Given the description of an element on the screen output the (x, y) to click on. 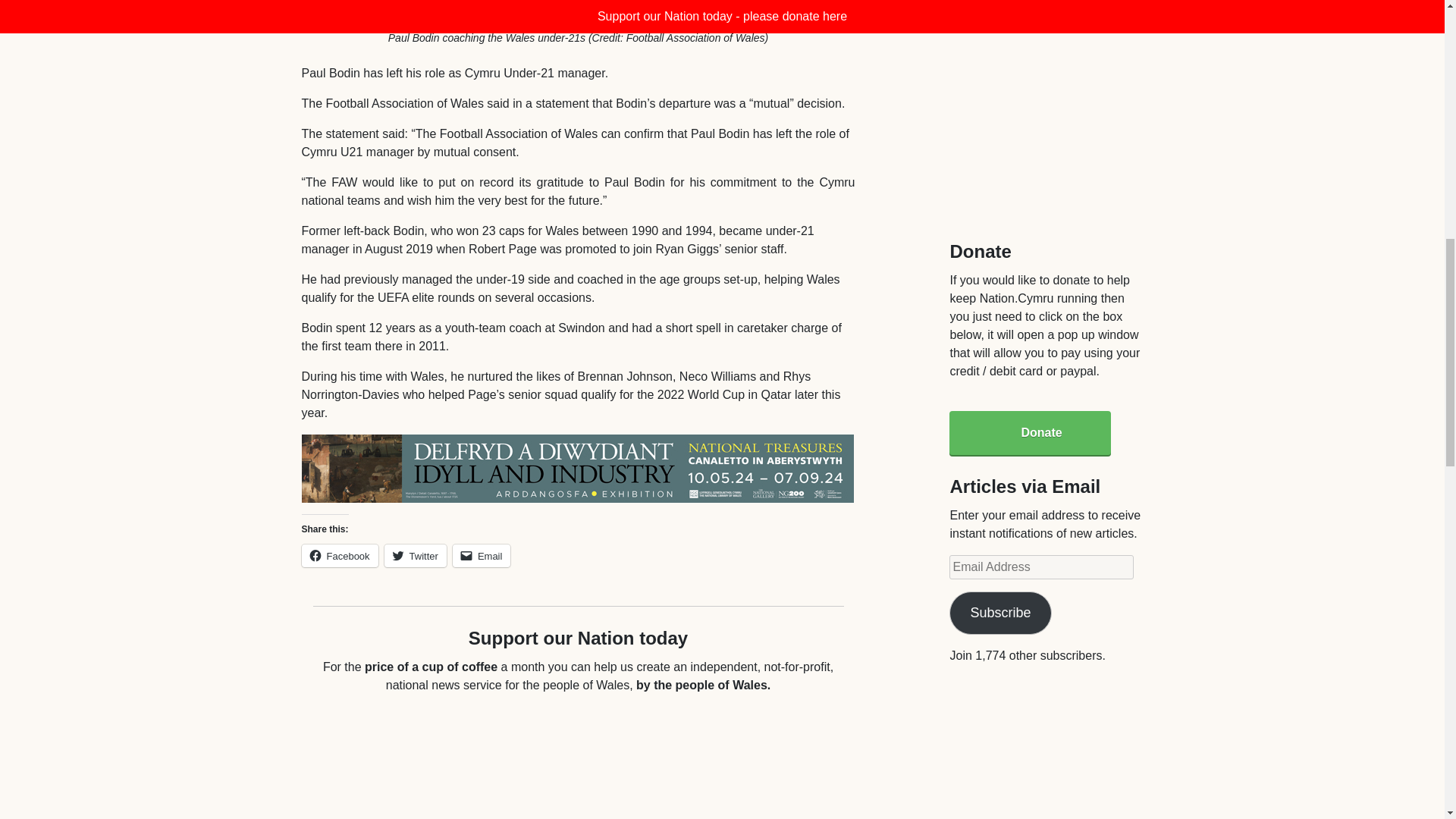
Email (481, 555)
Click to email a link to a friend (481, 555)
Facebook (339, 555)
Click to share on Facebook (339, 555)
Twitter (415, 555)
Click to share on Twitter (415, 555)
